Given the description of an element on the screen output the (x, y) to click on. 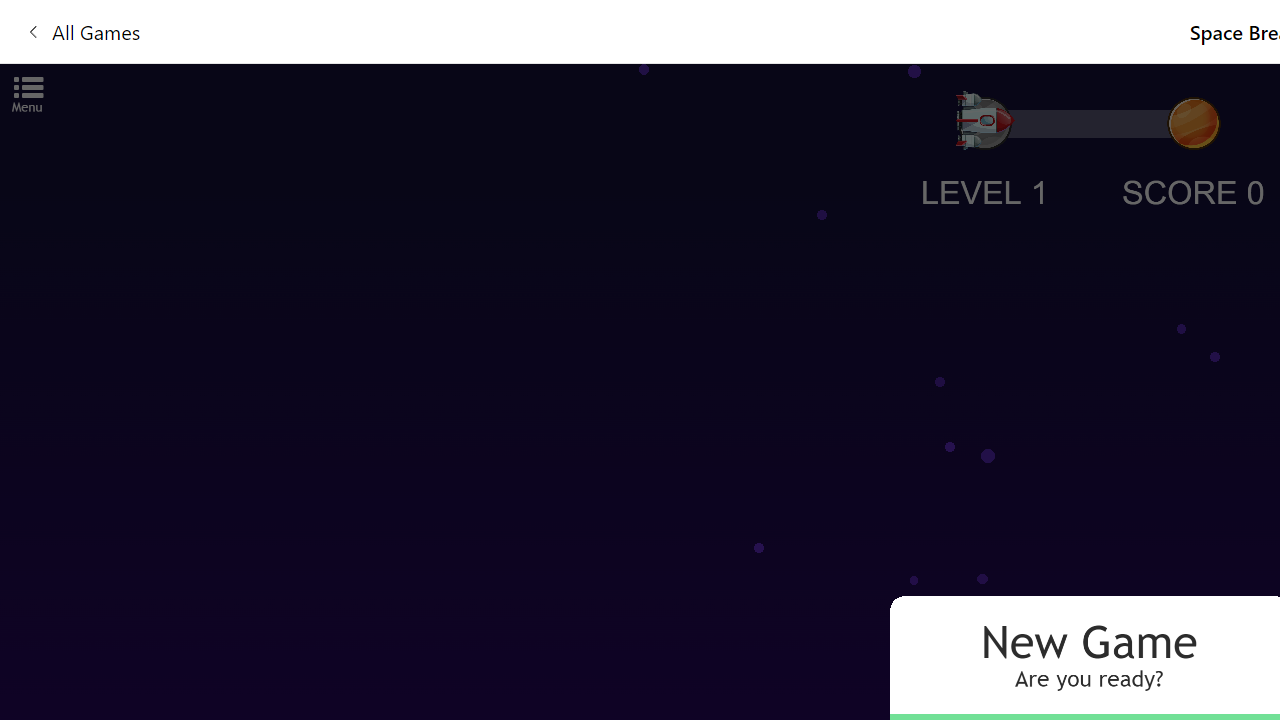
All Games (82, 30)
All Games (442, 30)
